Given the description of an element on the screen output the (x, y) to click on. 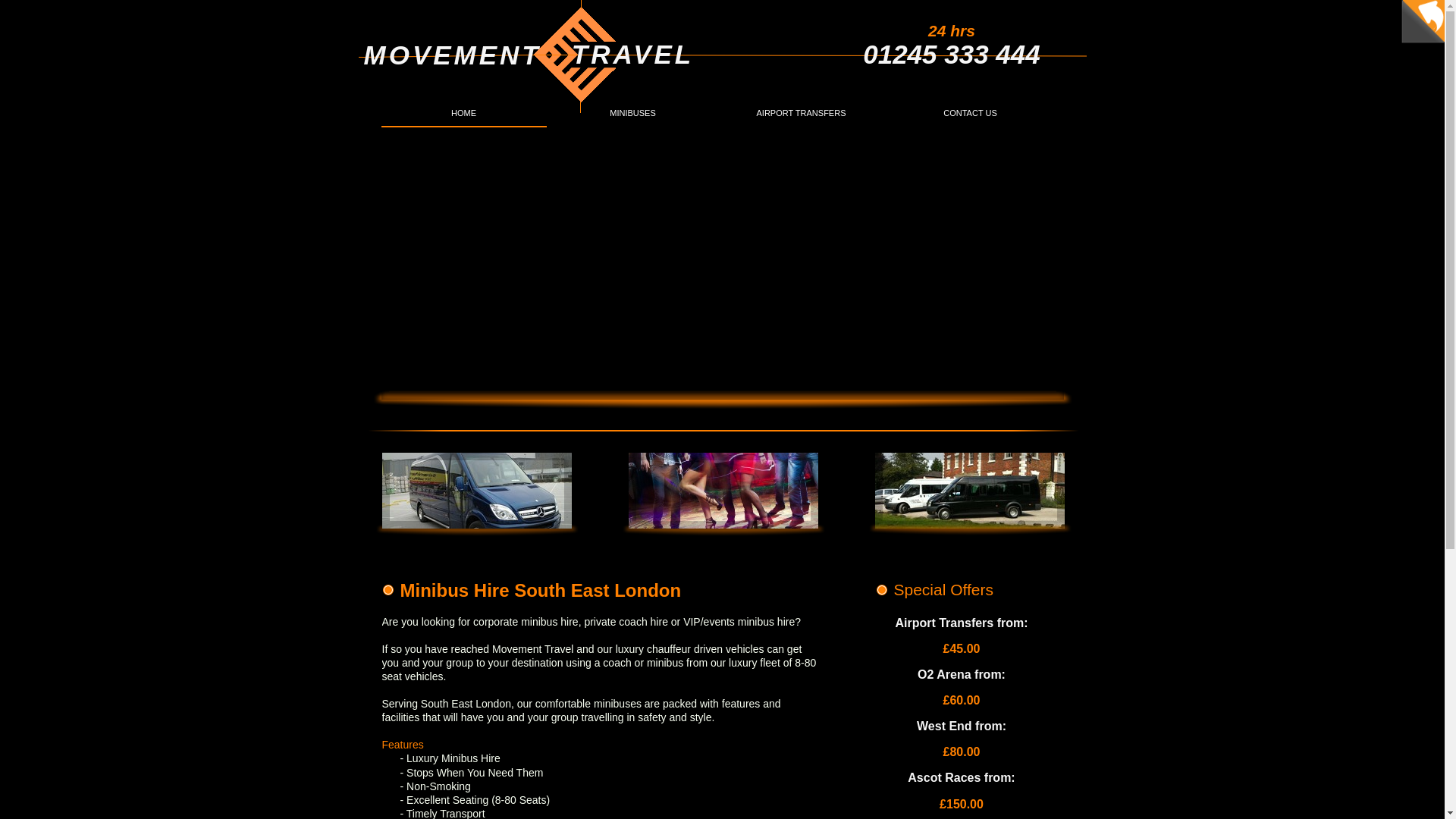
AIRPORT TRANSFERS (801, 113)
CONTACT US (969, 113)
HOME (463, 113)
MINIBUSES (633, 113)
